Given the description of an element on the screen output the (x, y) to click on. 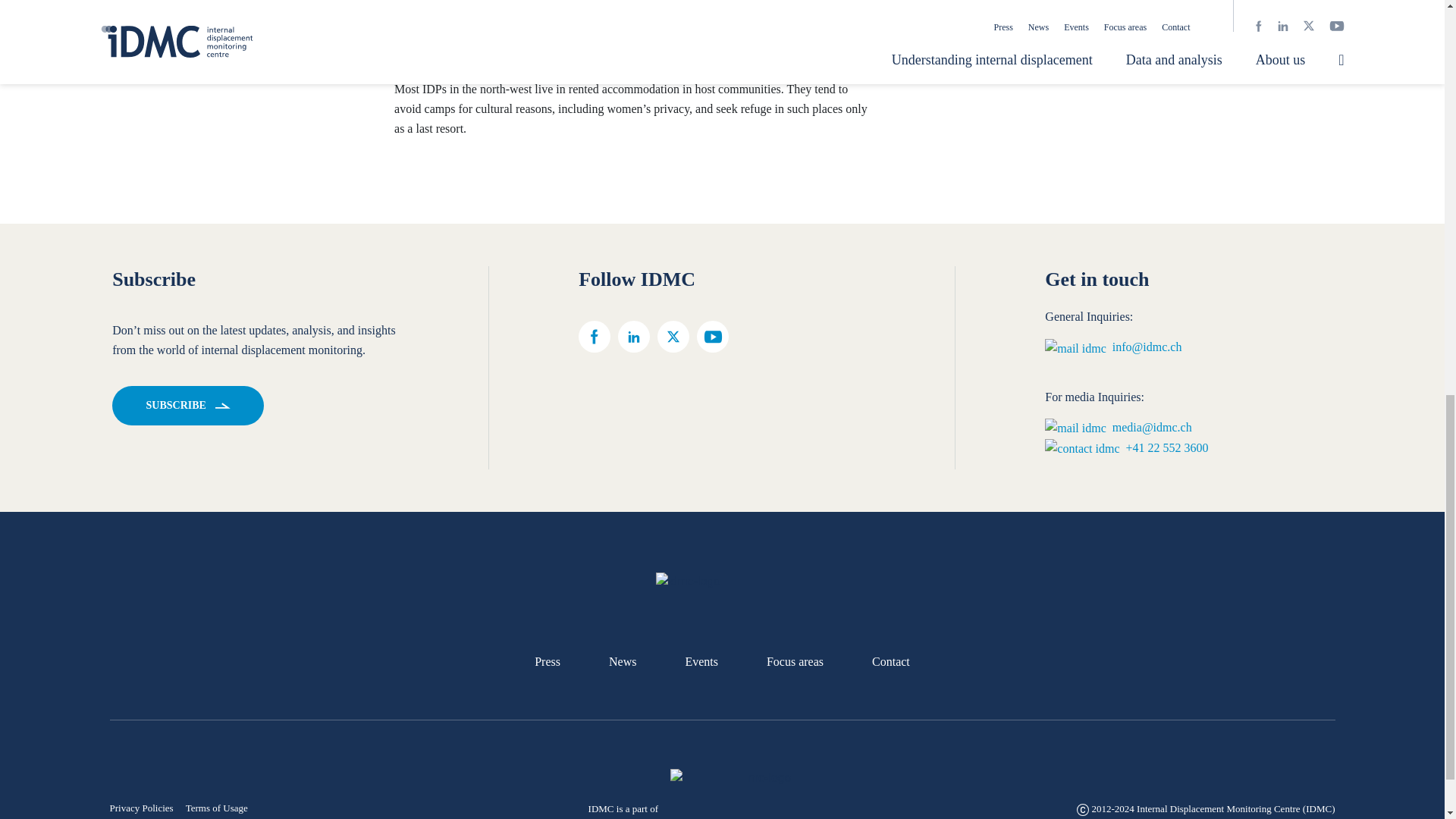
Press (547, 661)
News (622, 661)
Contact (891, 661)
Events (700, 661)
SUBSCRIBE (187, 405)
Focus areas (795, 661)
